Given the description of an element on the screen output the (x, y) to click on. 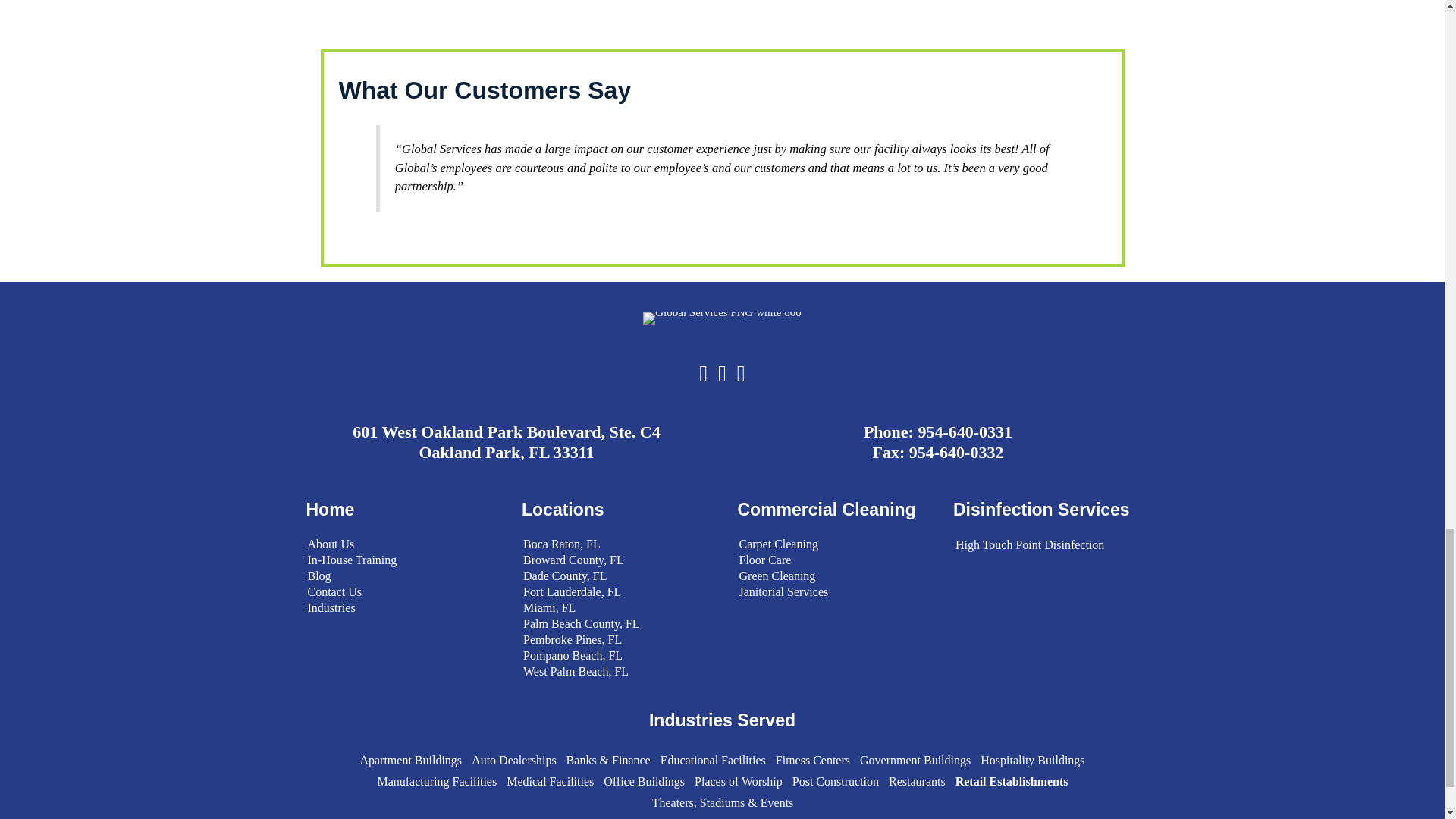
Industries Served (721, 720)
Home (330, 509)
Locations (562, 509)
Commercial Cleaning (825, 509)
Global Services PNG white 800 (721, 318)
Disinfection Services (1041, 509)
